Given the description of an element on the screen output the (x, y) to click on. 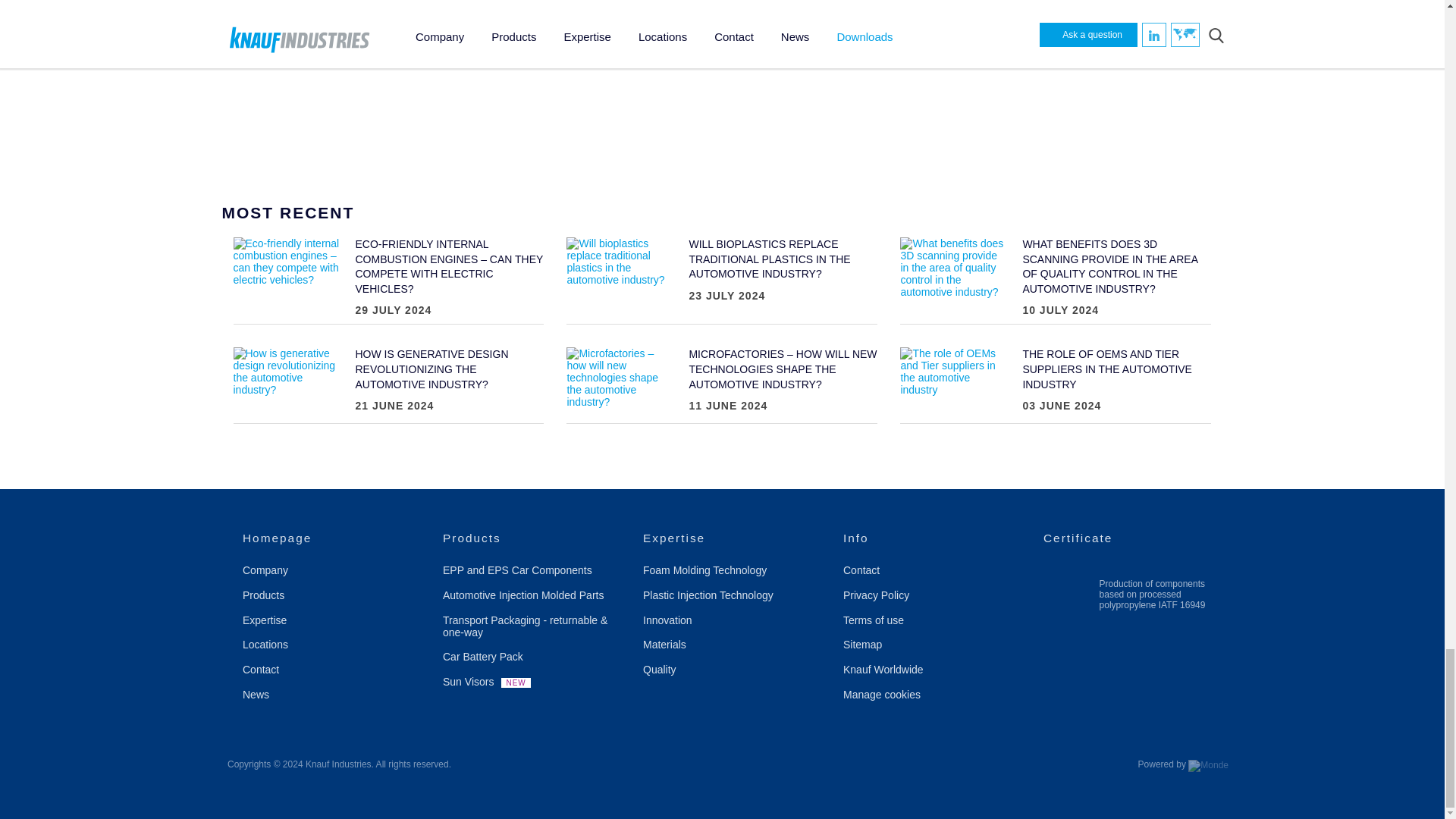
home (335, 538)
home (534, 538)
Expertise (735, 538)
